Given the description of an element on the screen output the (x, y) to click on. 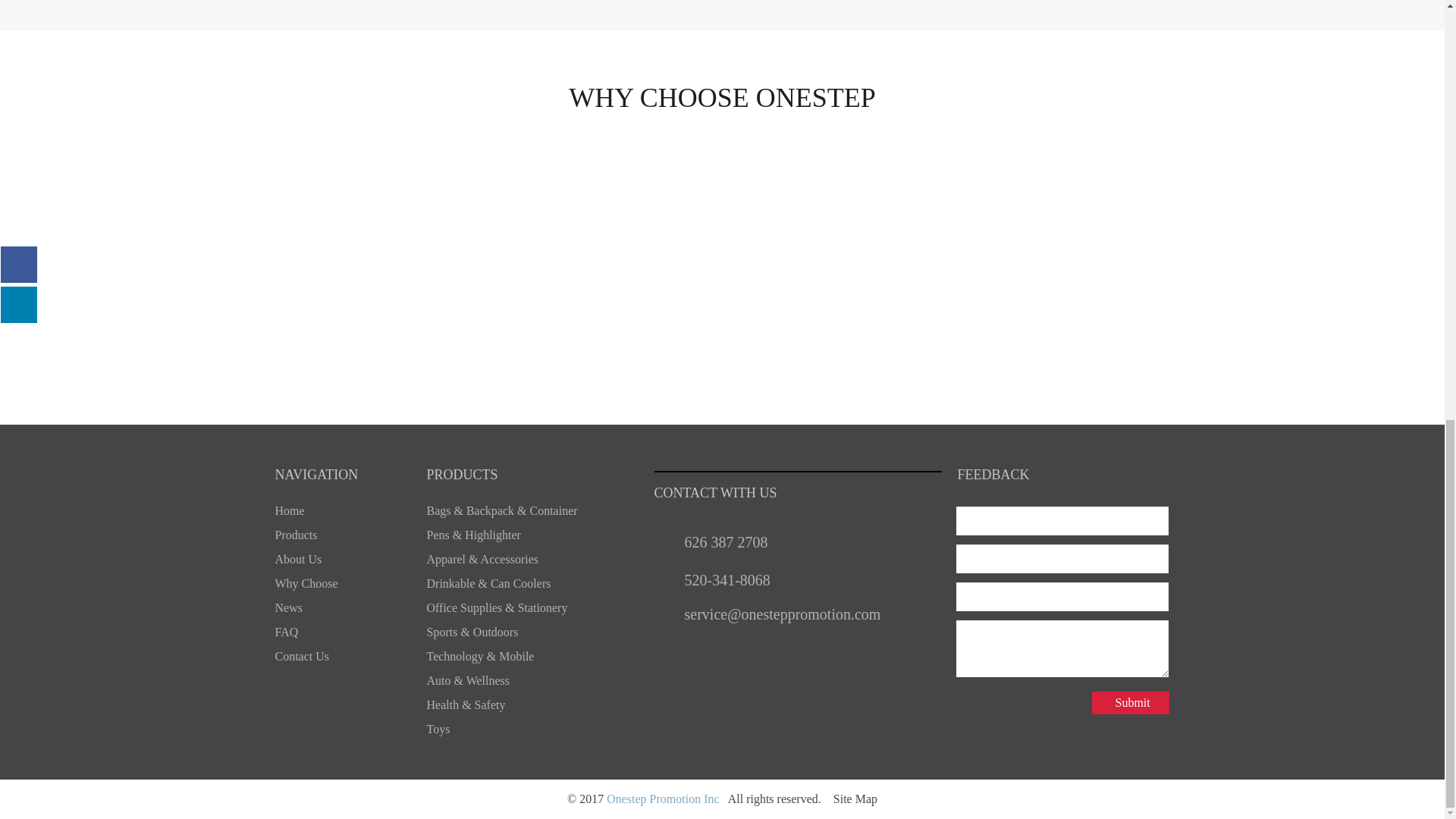
Why Choose (306, 583)
Home (289, 510)
About Us (298, 558)
News (288, 607)
About Us (298, 558)
Home (289, 510)
Products (296, 534)
FAQ (286, 631)
Contact Us (302, 656)
Why Choose (306, 583)
